Given the description of an element on the screen output the (x, y) to click on. 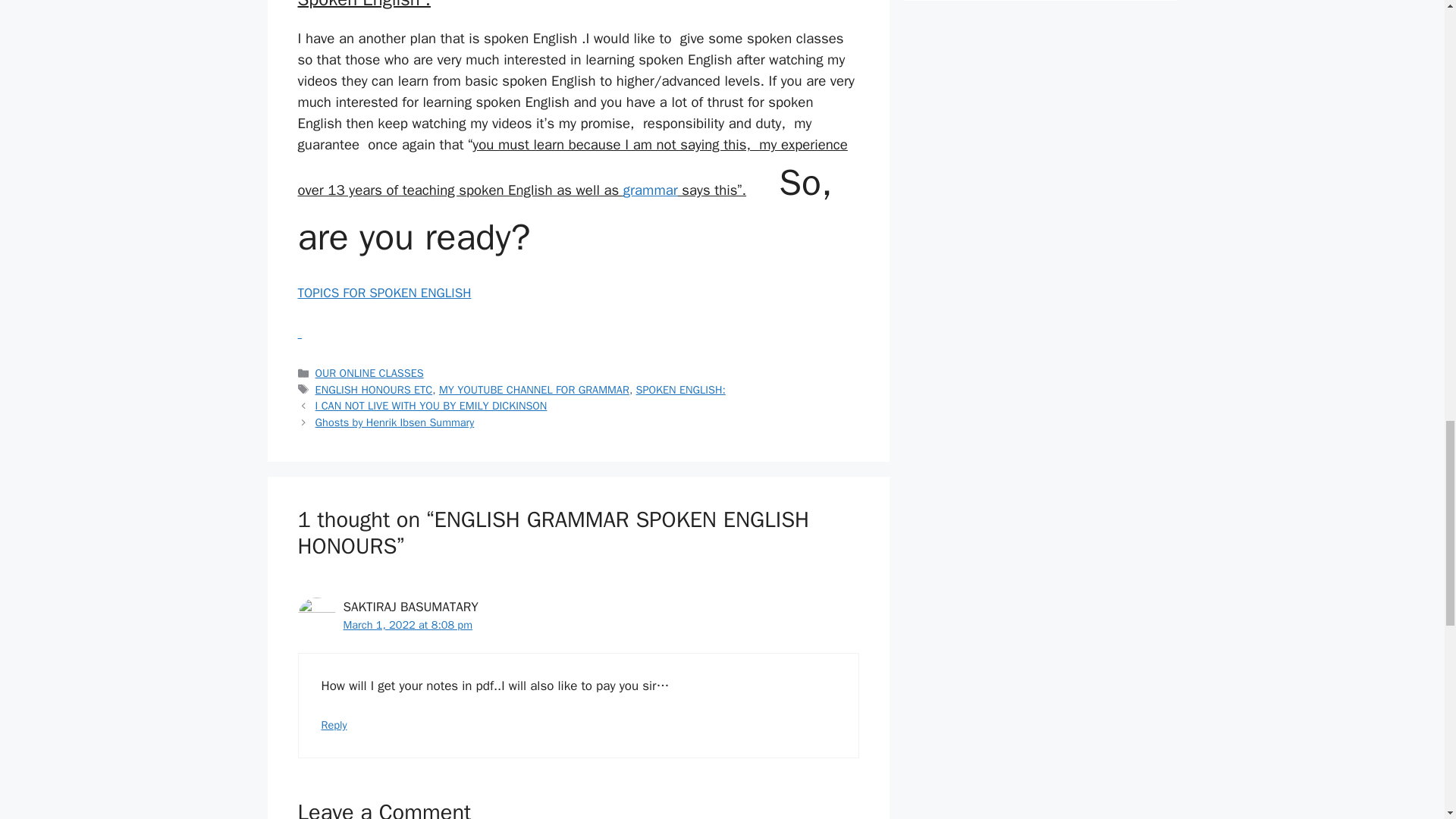
ENGLISH HONOURS ETC (373, 389)
TOPICS FOR SPOKEN ENGLISH (383, 293)
grammar (650, 189)
OUR ONLINE CLASSES (369, 373)
MY YOUTUBE CHANNEL FOR GRAMMAR (533, 389)
I CAN NOT LIVE WITH YOU BY EMILY DICKINSON (431, 405)
Ghosts by Henrik Ibsen Summary (394, 422)
SPOKEN ENGLISH: (680, 389)
